Given the description of an element on the screen output the (x, y) to click on. 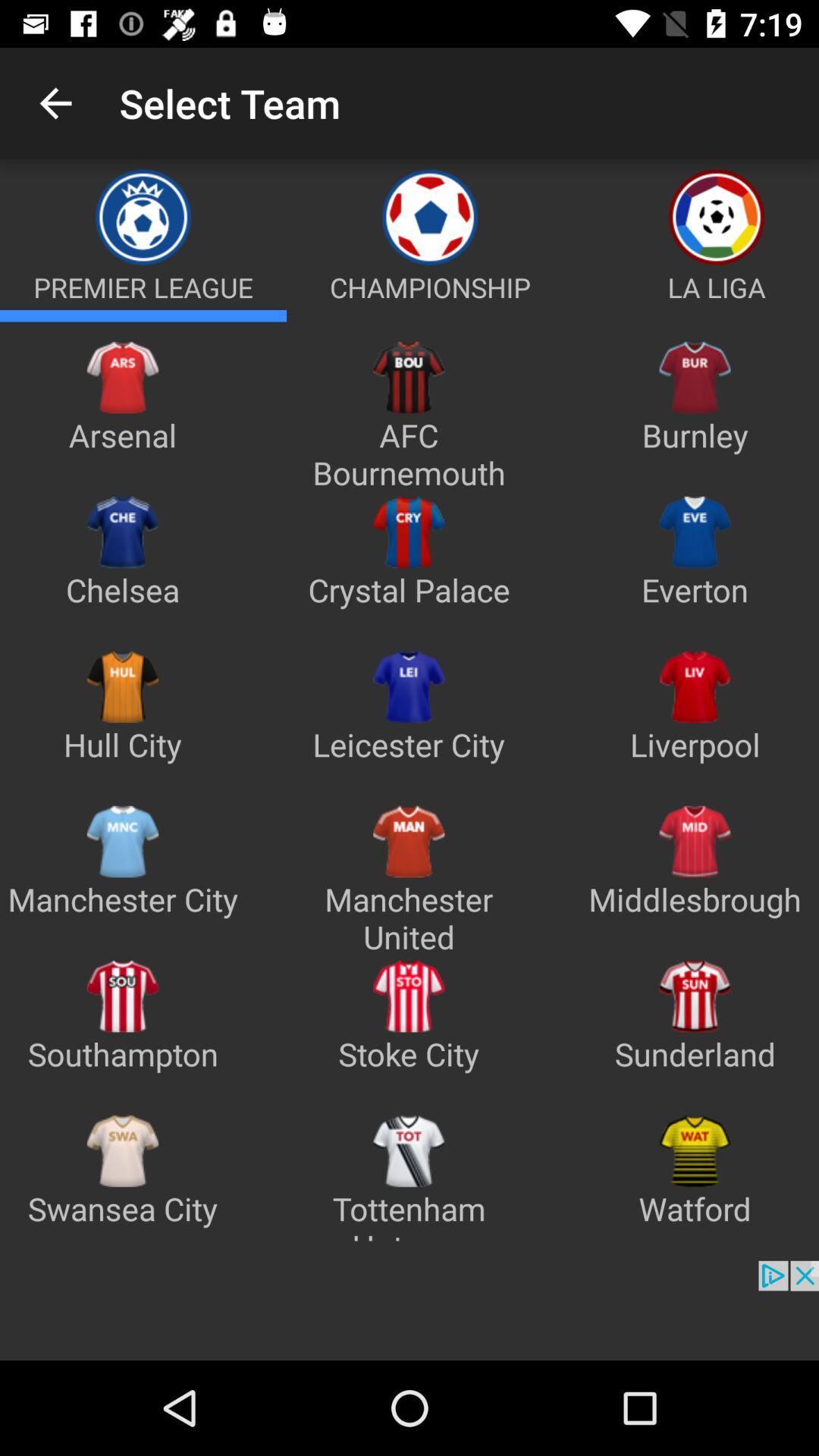
share the article (696, 315)
